Given the description of an element on the screen output the (x, y) to click on. 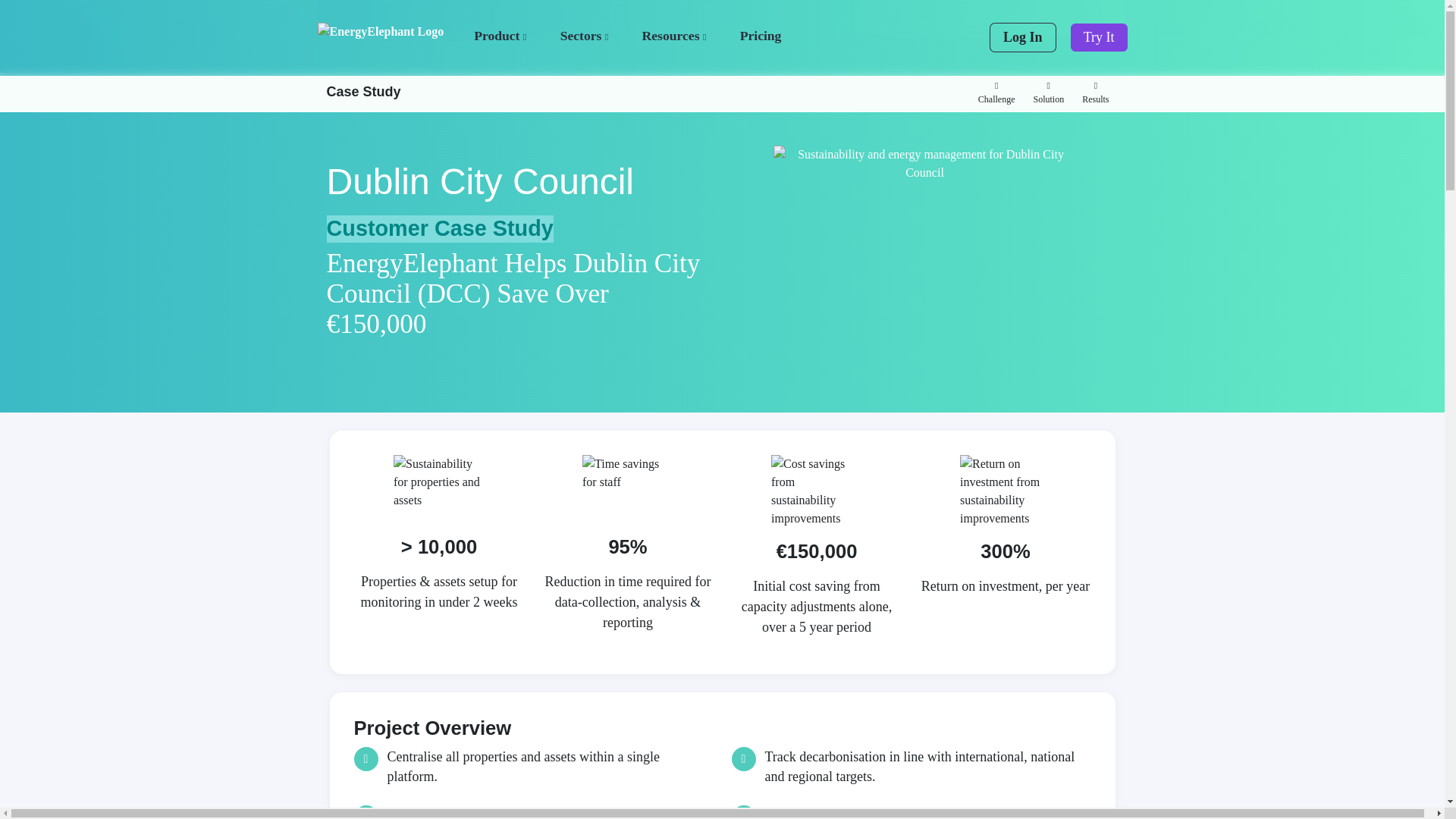
Log In (1022, 37)
Try It (1098, 37)
Product (501, 35)
The project challenge (997, 92)
Pricing (760, 35)
Project results (1095, 92)
Sectors (585, 35)
Resources (676, 35)
The solution (1048, 92)
